Given the description of an element on the screen output the (x, y) to click on. 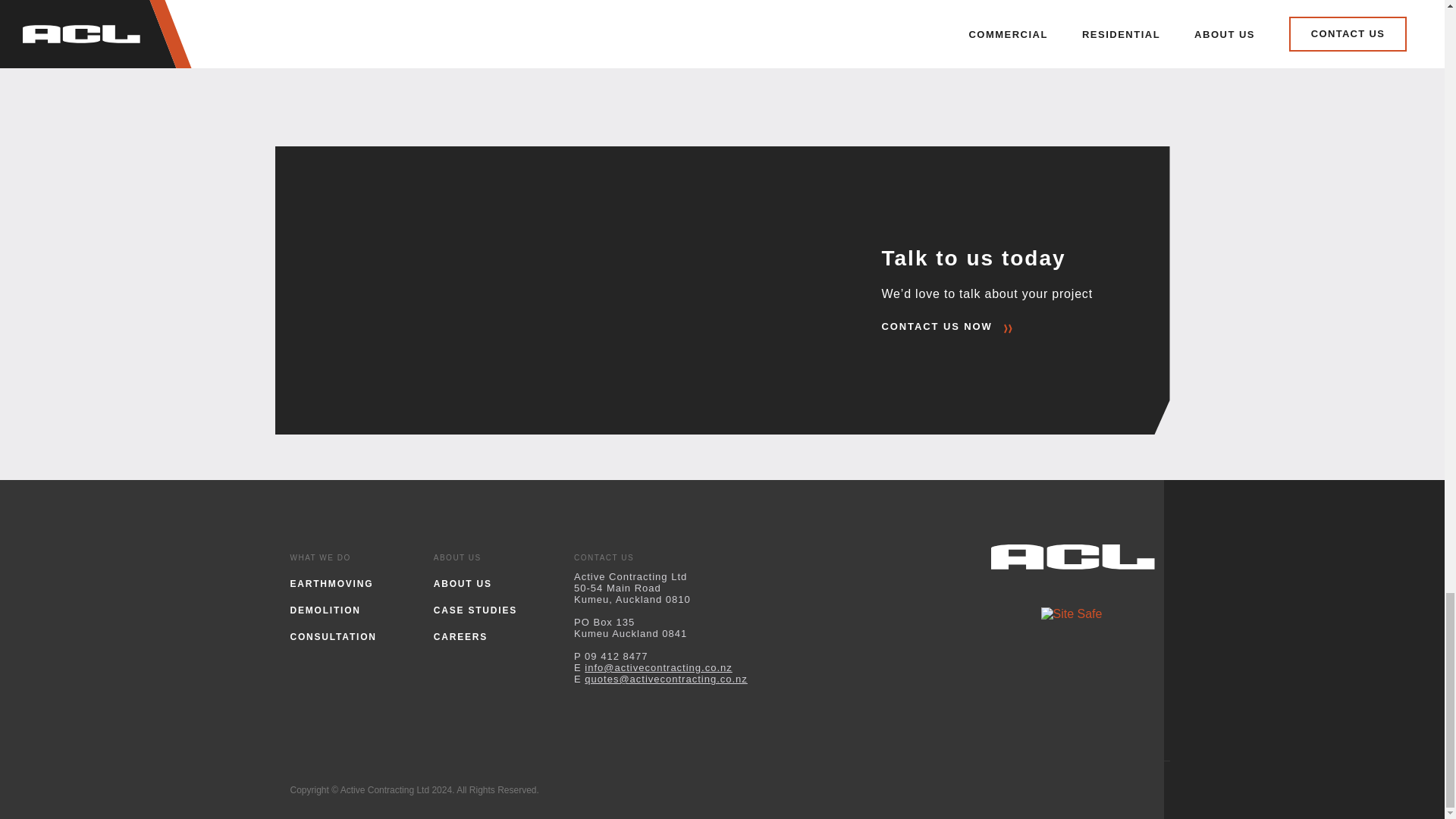
CONSULTATION (332, 636)
ABOUT US (462, 583)
EARTHMOVING (330, 583)
DEMOLITION (324, 610)
CAREERS (460, 636)
CASE STUDIES (474, 610)
